Given the description of an element on the screen output the (x, y) to click on. 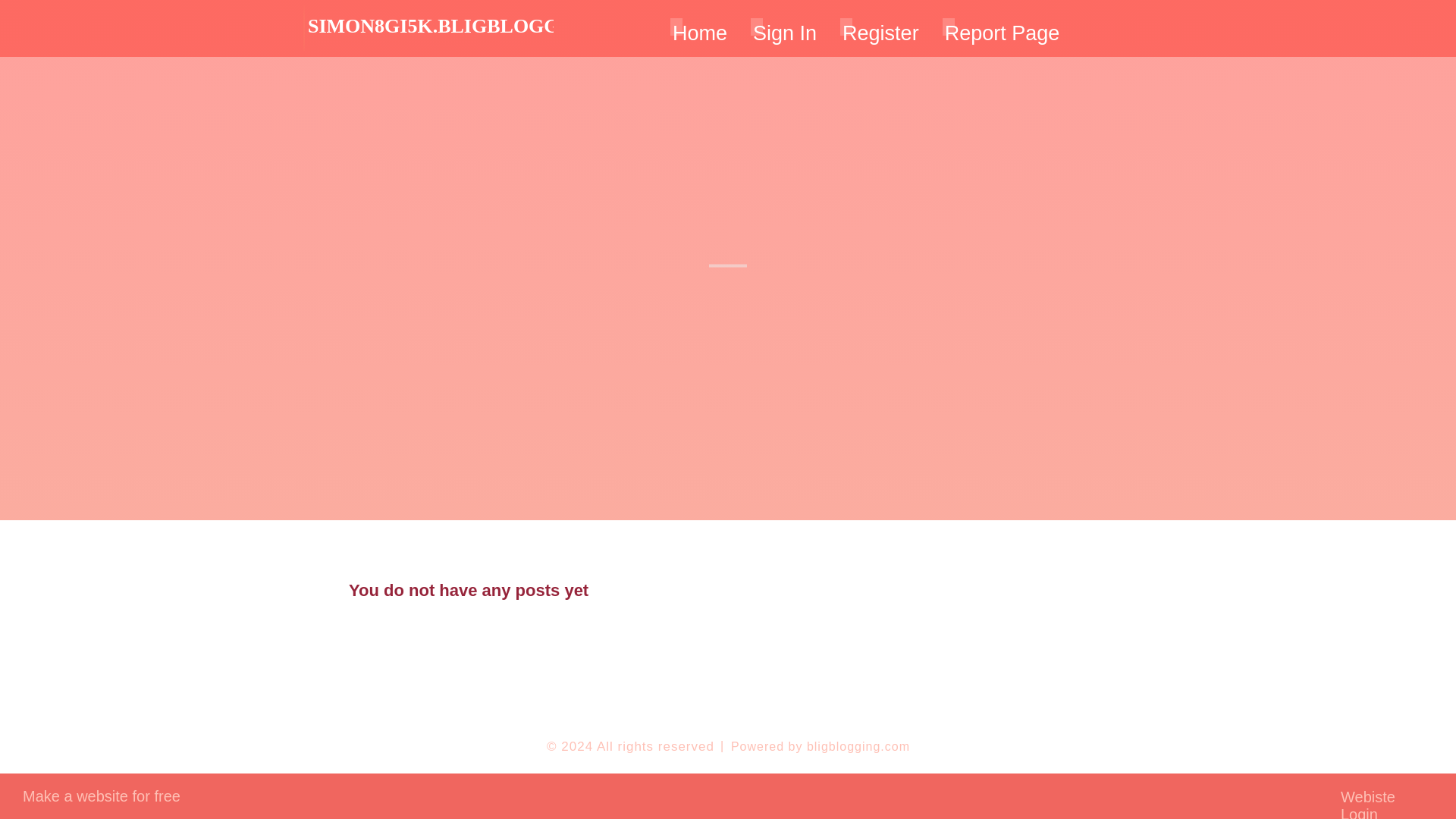
bligblogging.com (858, 746)
Report Page (1002, 28)
Make a website for free (101, 795)
SIMON8GI5K.BLIGBLOGGING.COM (478, 27)
Sign In (784, 28)
Webiste Login (1386, 796)
Register (880, 28)
Home (699, 28)
